Given the description of an element on the screen output the (x, y) to click on. 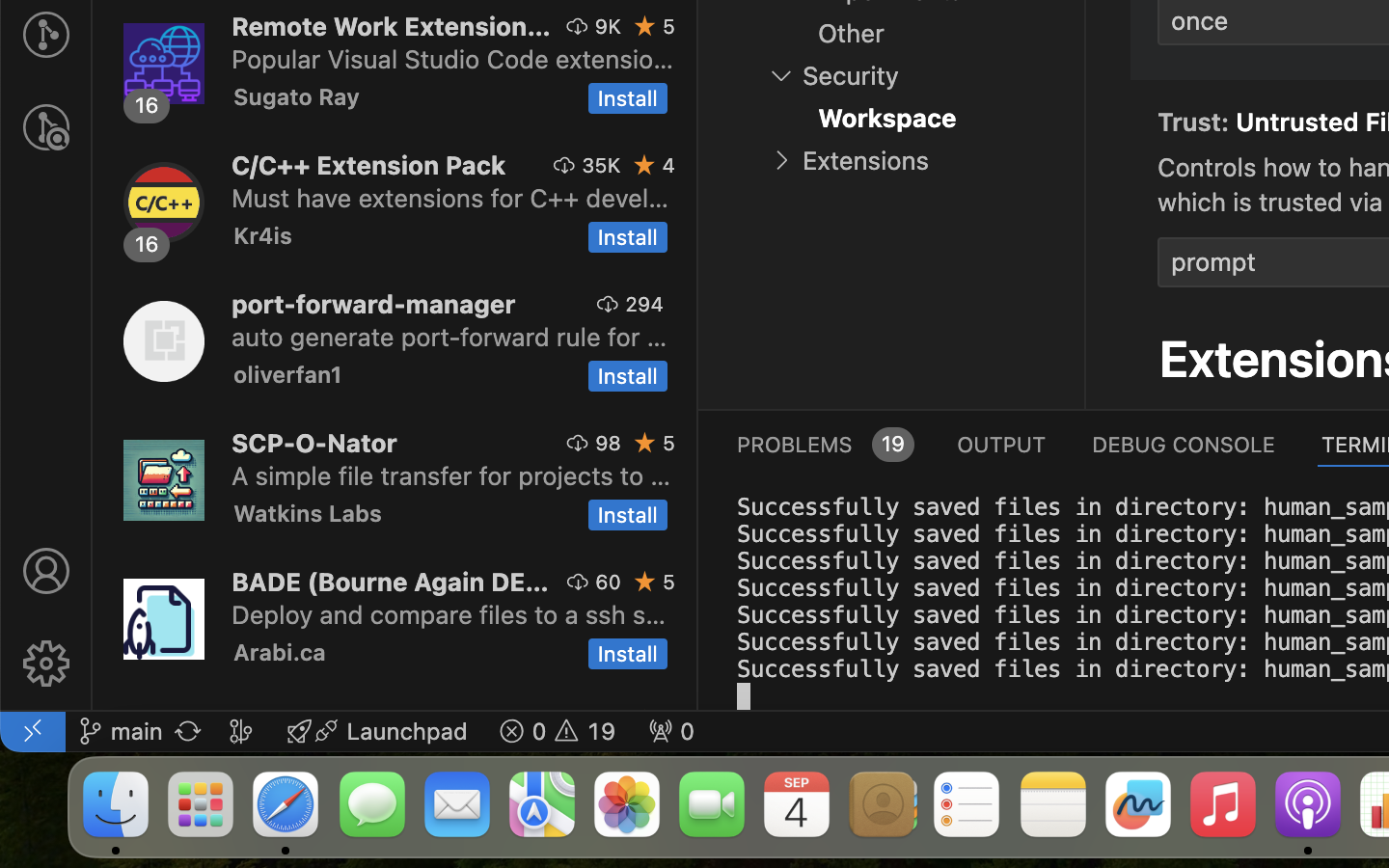
auto generate port-forward rule for your vscode ssh connection. Element type: AXStaticText (449, 336)
Trust: Element type: AXStaticText (1196, 122)
0 DEBUG CONSOLE Element type: AXRadioButton (1183, 443)
Other Element type: AXStaticText (851, 33)
Arabi.ca Element type: AXStaticText (279, 651)
